Given the description of an element on the screen output the (x, y) to click on. 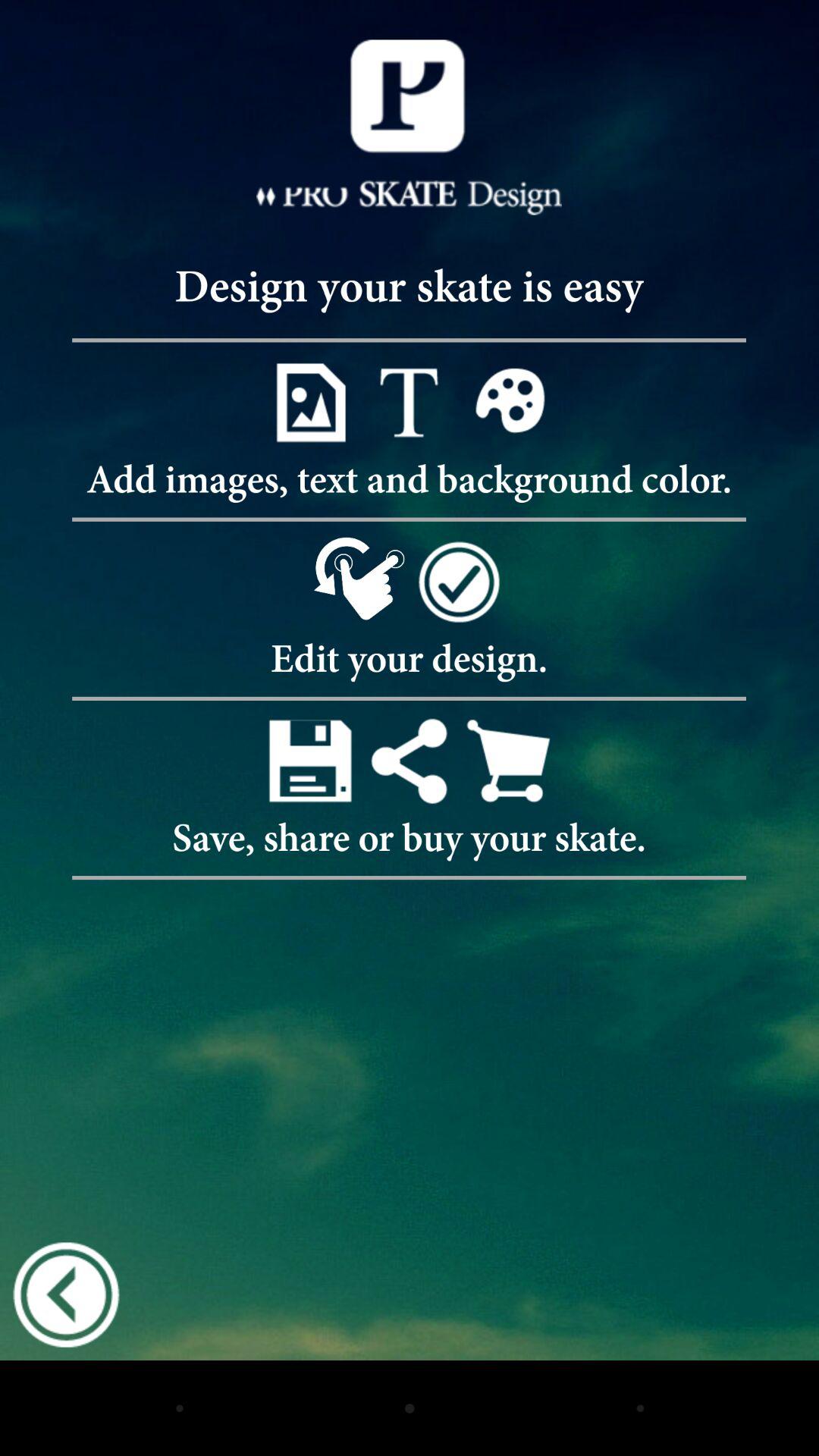
complete design (458, 581)
